Given the description of an element on the screen output the (x, y) to click on. 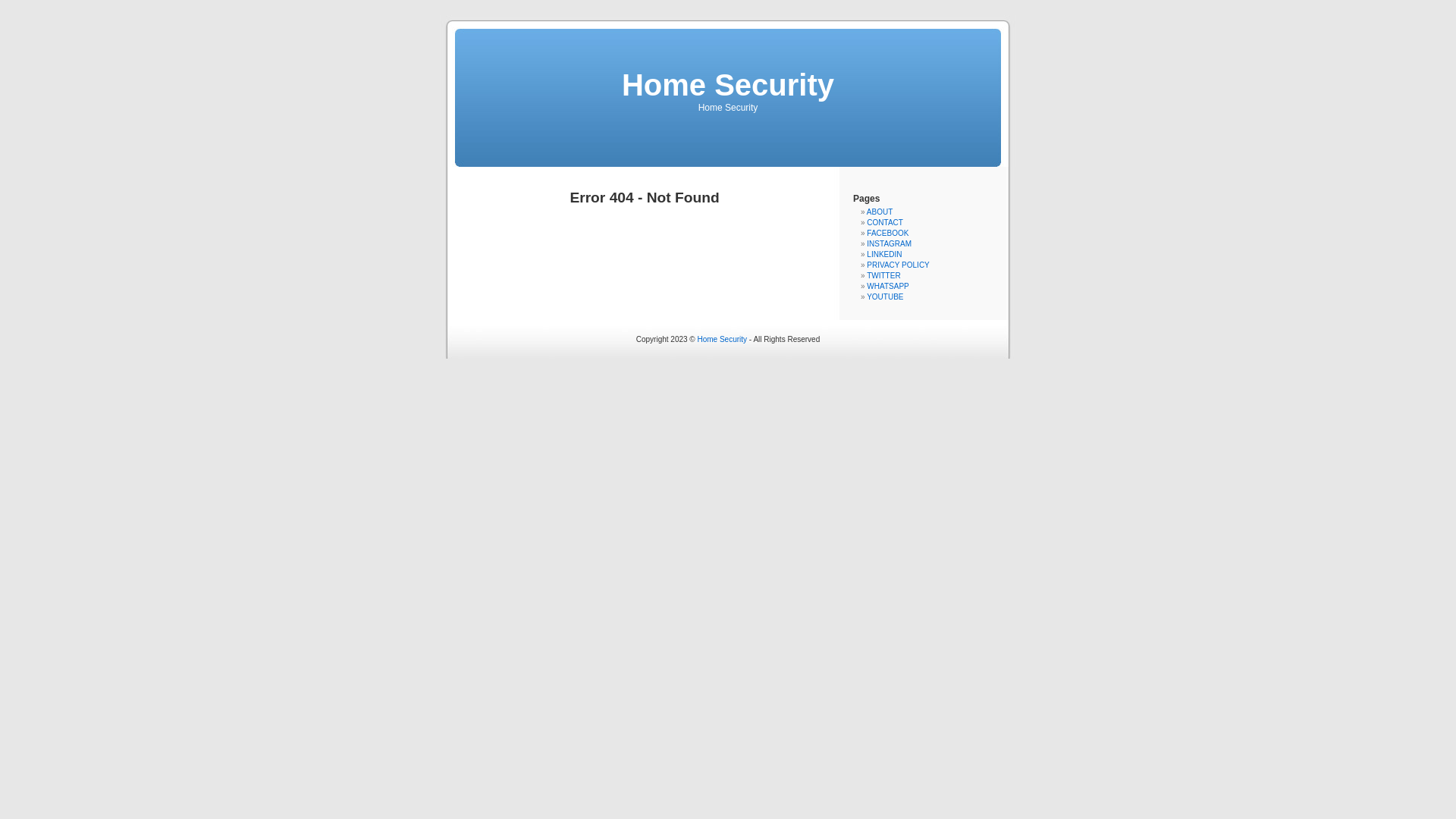
WHATSAPP Element type: text (887, 286)
LINKEDIN Element type: text (883, 254)
PRIVACY POLICY Element type: text (897, 264)
CONTACT Element type: text (884, 222)
ABOUT Element type: text (879, 211)
Home Security Element type: text (722, 339)
FACEBOOK Element type: text (887, 233)
Home Security Element type: text (727, 84)
INSTAGRAM Element type: text (888, 243)
YOUTUBE Element type: text (884, 296)
TWITTER Element type: text (883, 275)
